Given the description of an element on the screen output the (x, y) to click on. 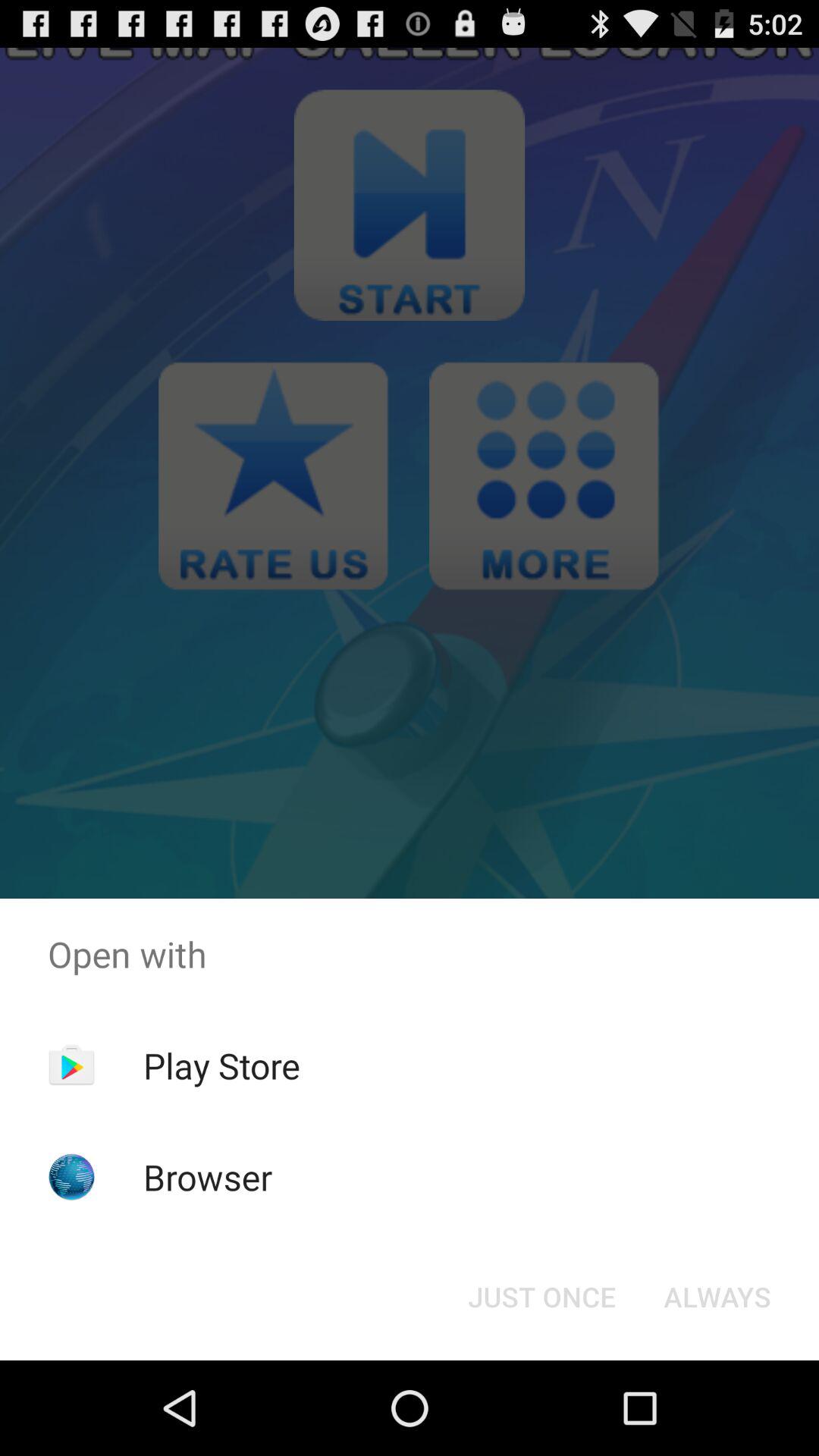
open the item below open with (541, 1296)
